Given the description of an element on the screen output the (x, y) to click on. 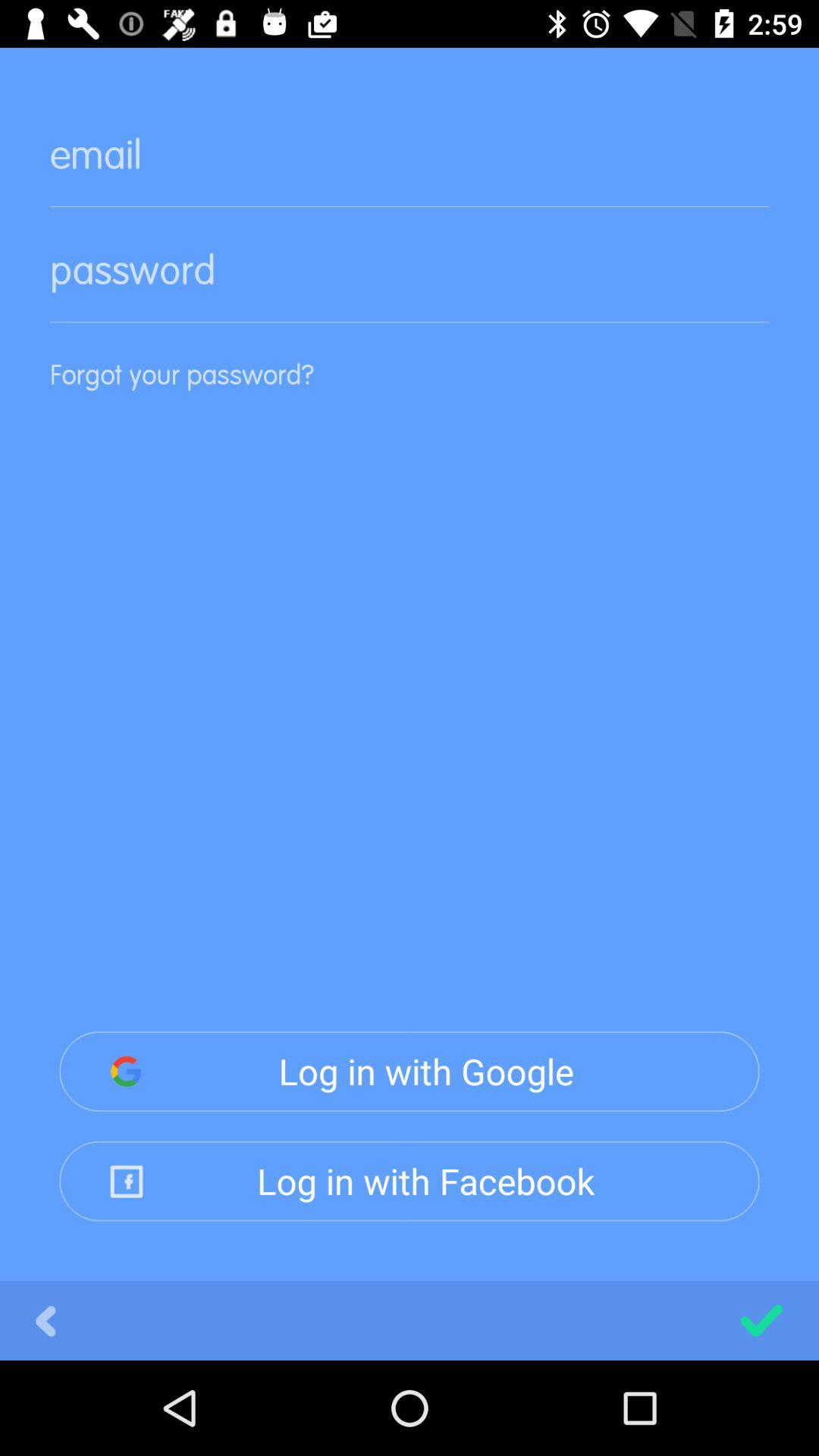
select item at the bottom left corner (45, 1320)
